Given the description of an element on the screen output the (x, y) to click on. 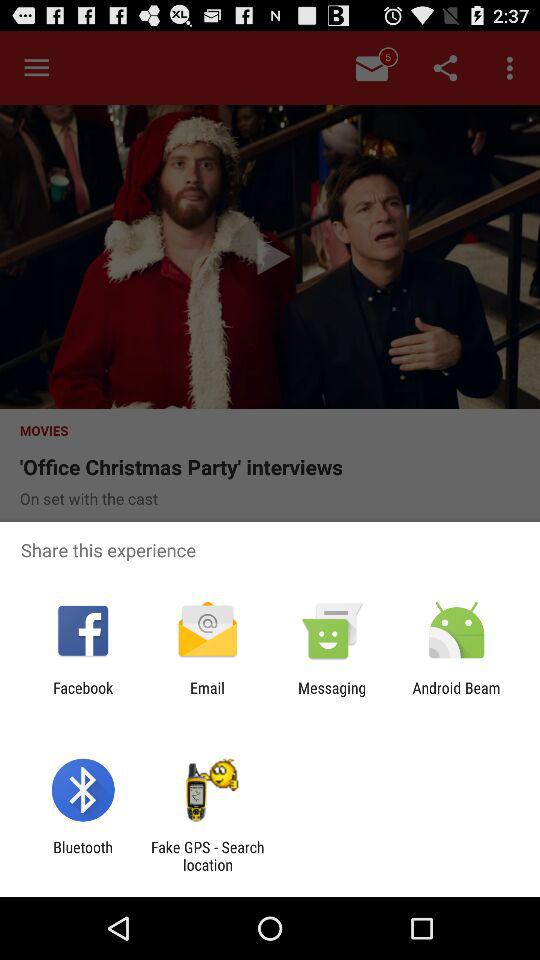
tap the app to the right of email (332, 696)
